Given the description of an element on the screen output the (x, y) to click on. 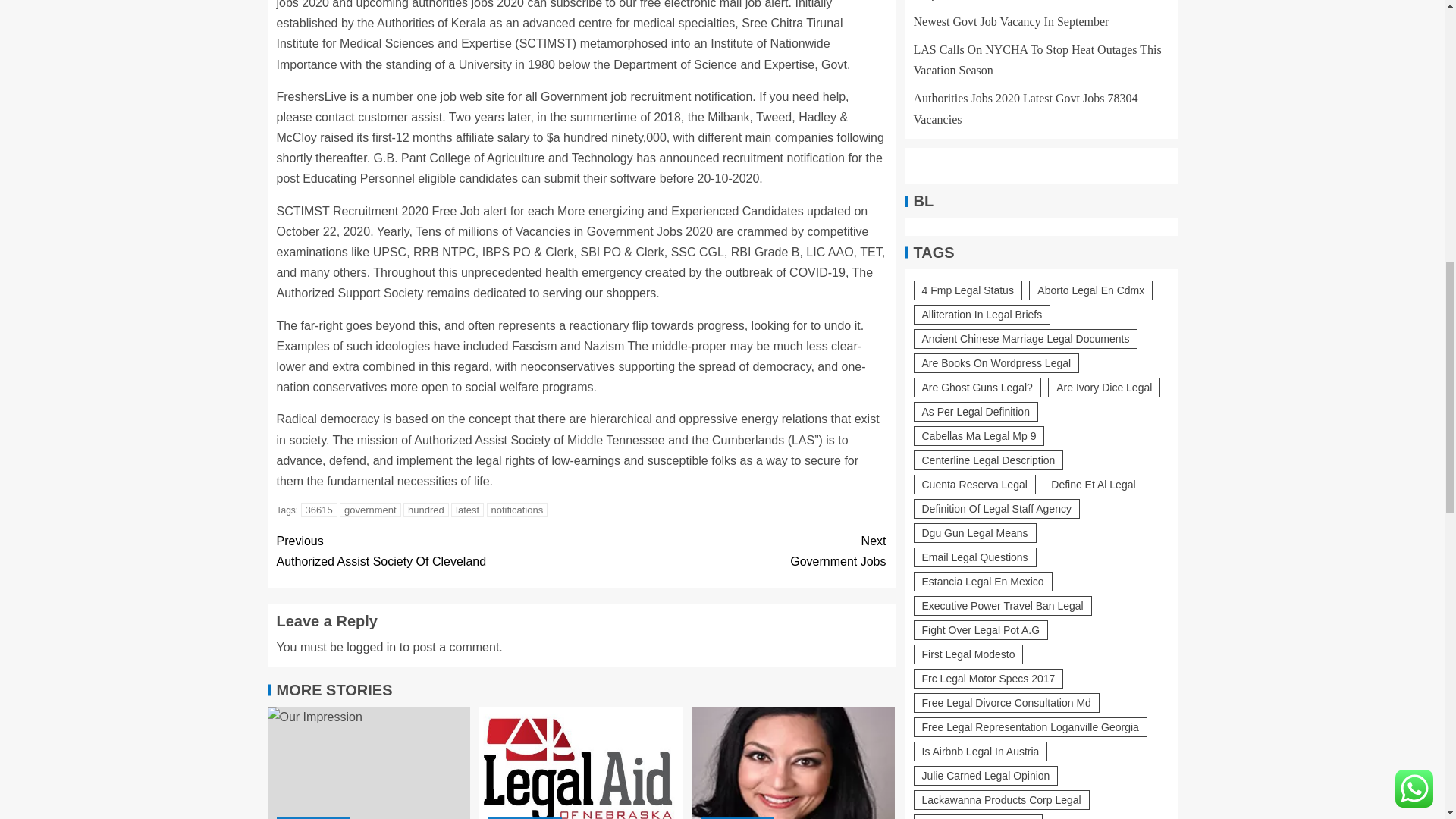
notifications (517, 509)
Usajobs (428, 550)
POLITIC NEWS (580, 762)
latest (732, 550)
logged in (312, 818)
Our Impression (467, 509)
36615 (371, 646)
hundred (368, 762)
Newest Govt Job Vacancy In September (319, 509)
POLITIC NEWS (425, 509)
government (793, 762)
